Given the description of an element on the screen output the (x, y) to click on. 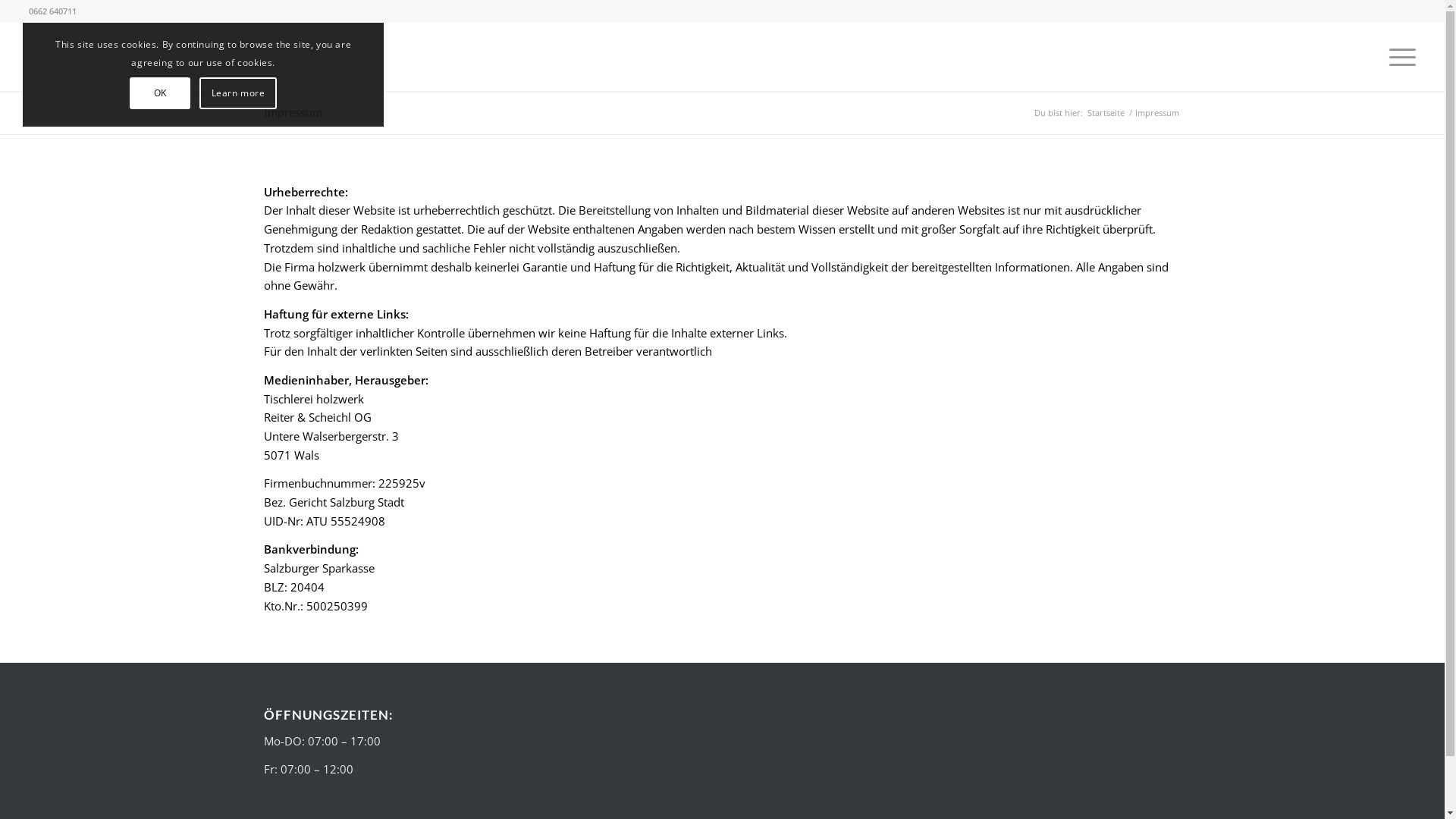
Learn more Element type: text (237, 93)
OK Element type: text (159, 93)
Startseite Element type: text (1105, 112)
Impressum Element type: text (292, 111)
Tischlerei Holzwerk Element type: text (79, 56)
0662 640711 Element type: text (52, 10)
